Given the description of an element on the screen output the (x, y) to click on. 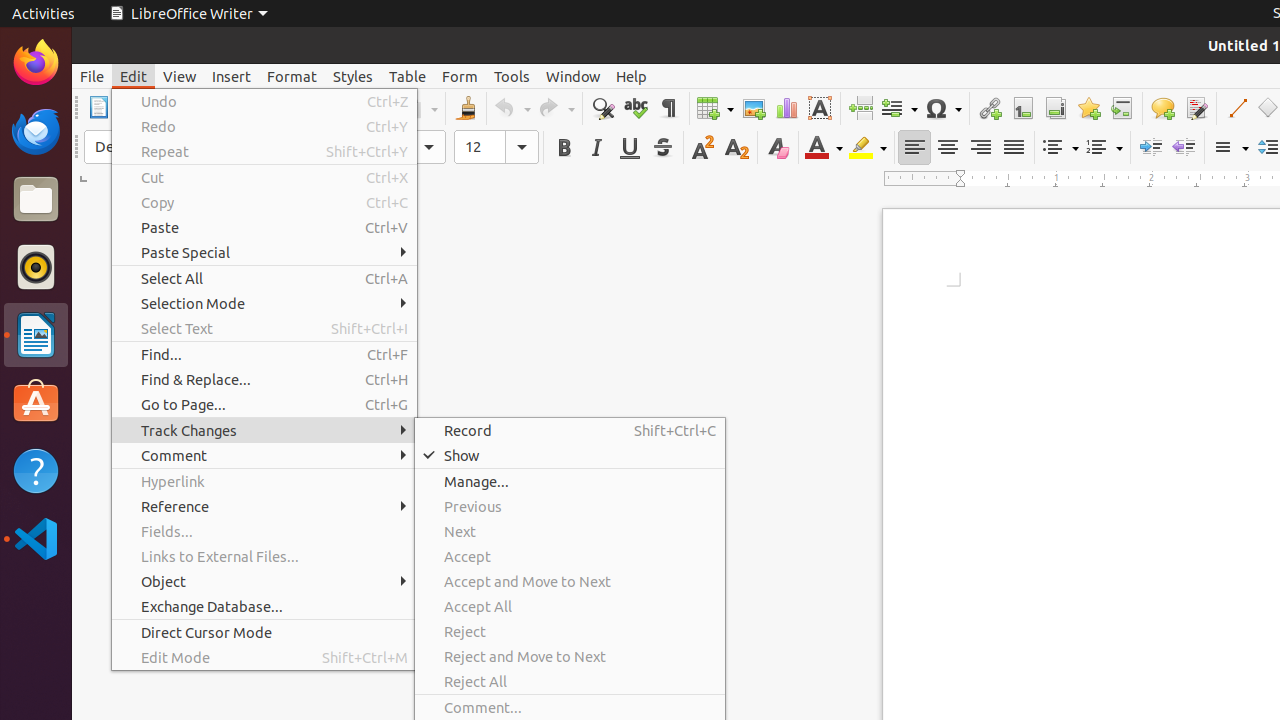
Endnote Element type: push-button (1055, 108)
Reject and Move to Next Element type: menu-item (570, 656)
Reject Element type: menu-item (570, 631)
Fields... Element type: menu-item (264, 531)
Track Changes Functions Element type: toggle-button (1195, 108)
